Given the description of an element on the screen output the (x, y) to click on. 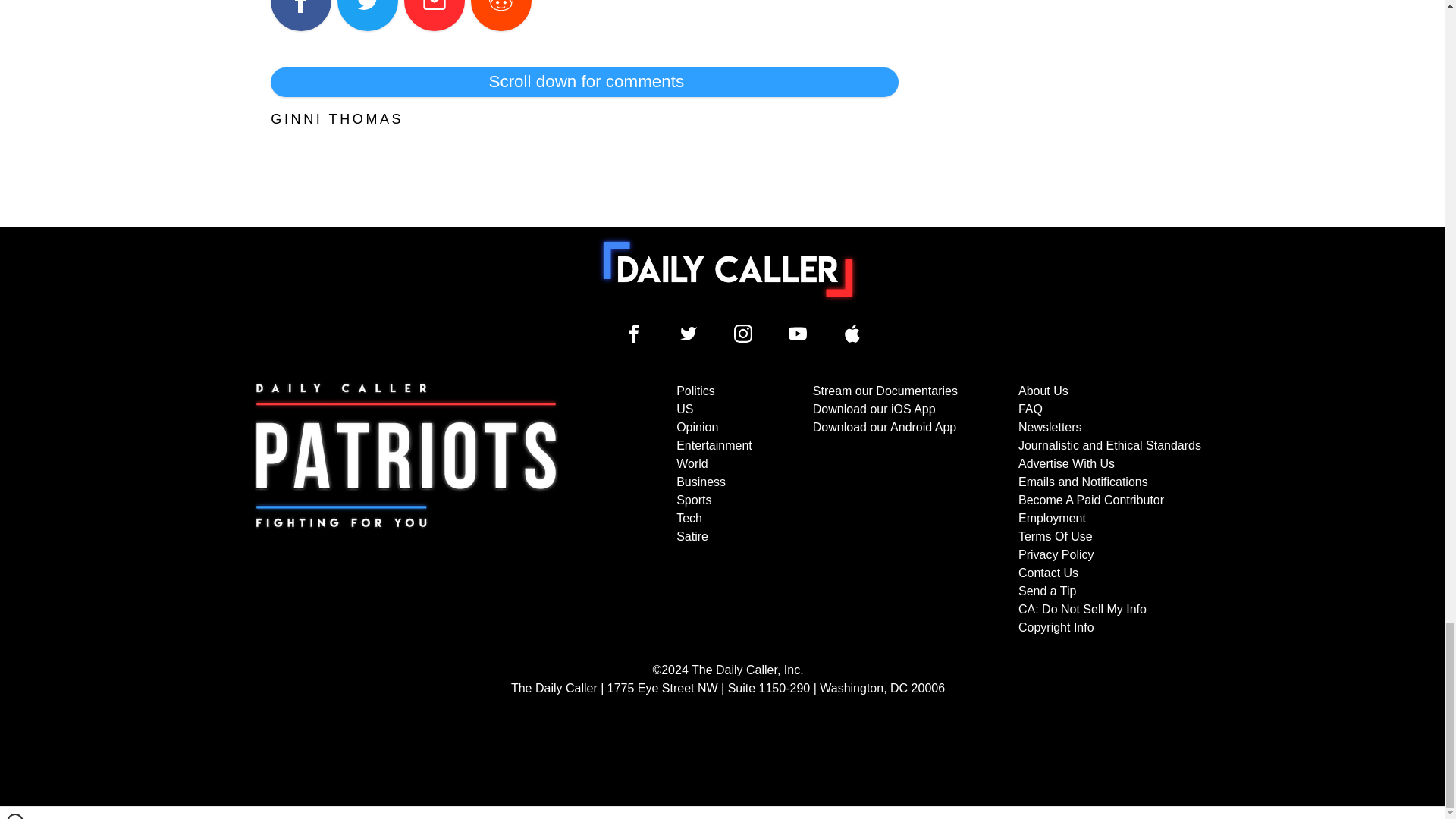
Daily Caller Facebook (633, 333)
Subscribe to The Daily Caller (405, 509)
Daily Caller YouTube (797, 333)
To home page (727, 268)
Daily Caller YouTube (852, 333)
Daily Caller Instagram (742, 333)
Daily Caller Twitter (688, 333)
Scroll down for comments (584, 81)
